Given the description of an element on the screen output the (x, y) to click on. 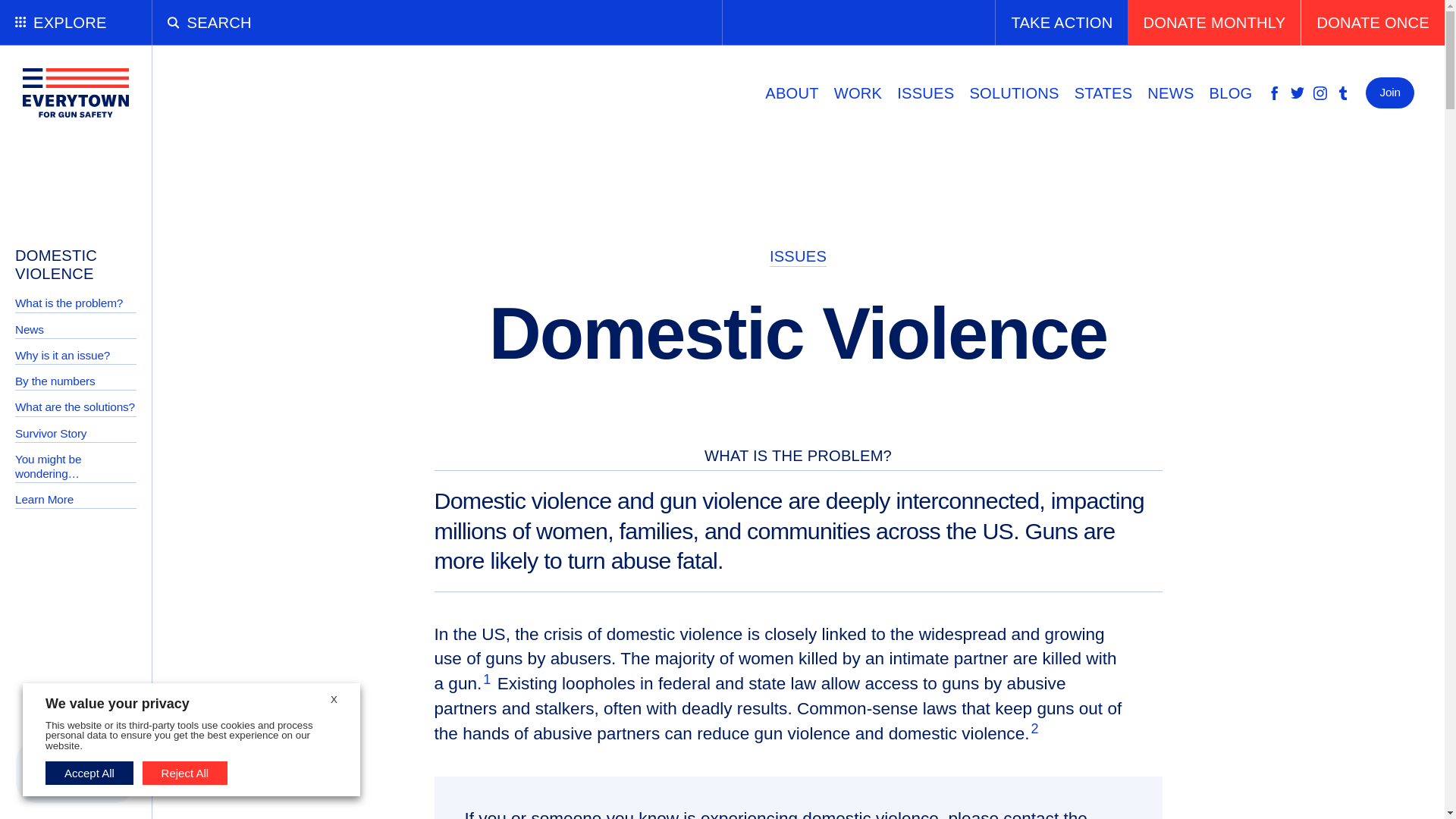
DONATE MONTHLY (1213, 22)
EXPLORE (75, 22)
ABOUT (791, 92)
TAKE ACTION (1060, 22)
